Given the description of an element on the screen output the (x, y) to click on. 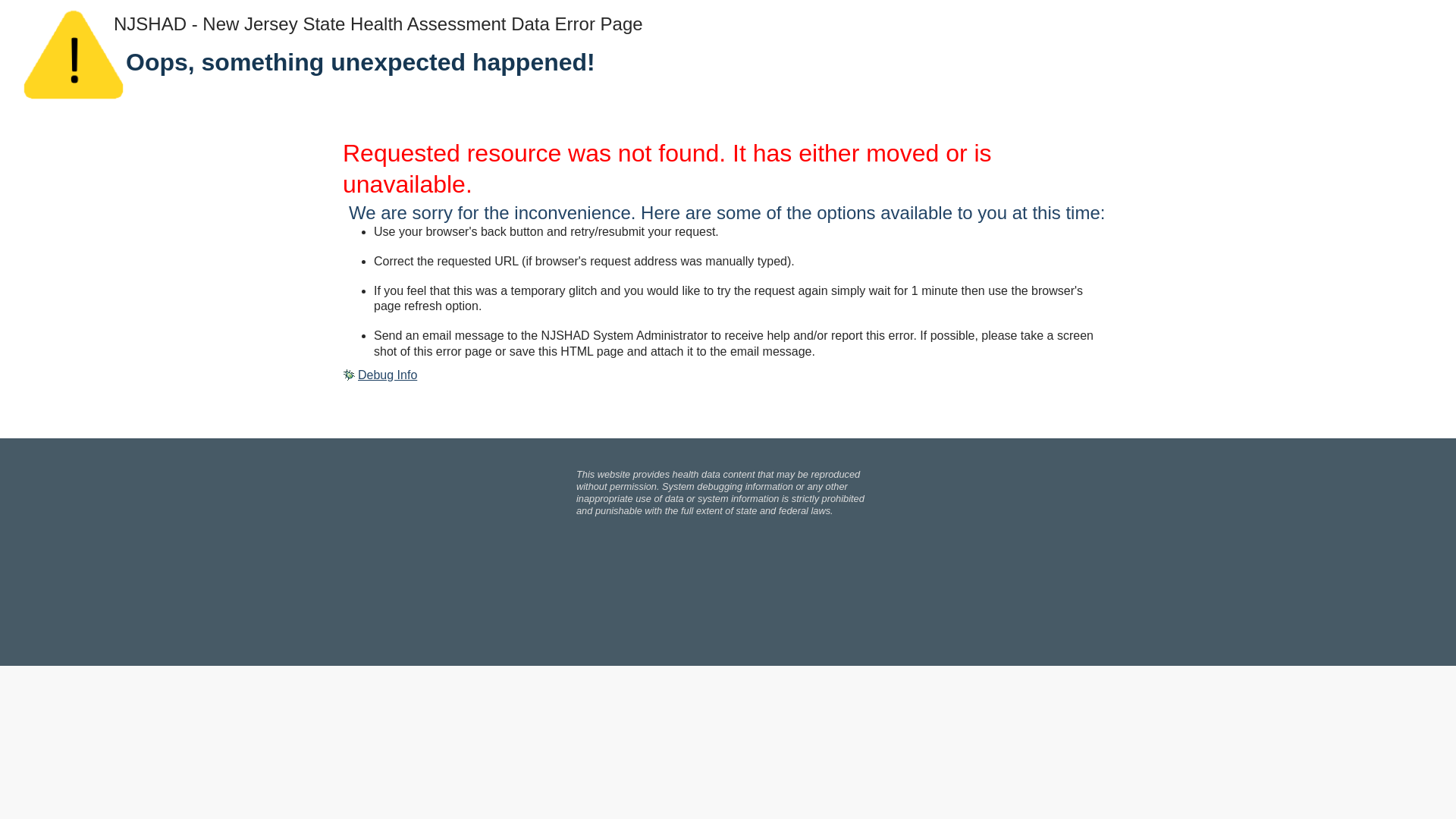
HTTP Status Code: 500 (727, 169)
Debug Info (379, 374)
Show Debugging Information (379, 374)
